Given the description of an element on the screen output the (x, y) to click on. 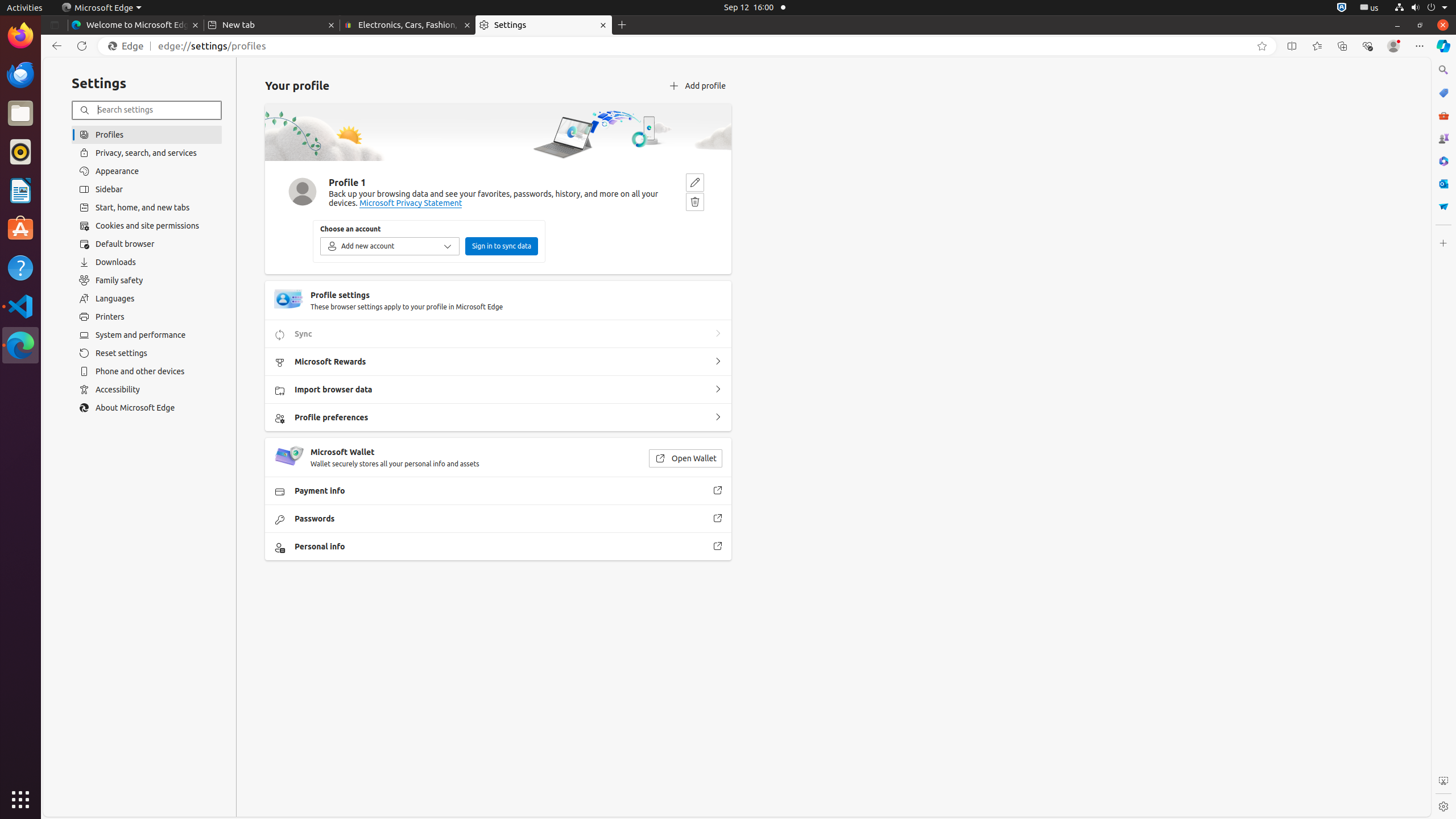
Show Applications Element type: toggle-button (20, 799)
Microsoft Edge Element type: menu (101, 7)
Reset settings Element type: tree-item (146, 353)
Copilot (Ctrl+Shift+.) Element type: push-button (1443, 45)
Search Element type: push-button (1443, 69)
